Given the description of an element on the screen output the (x, y) to click on. 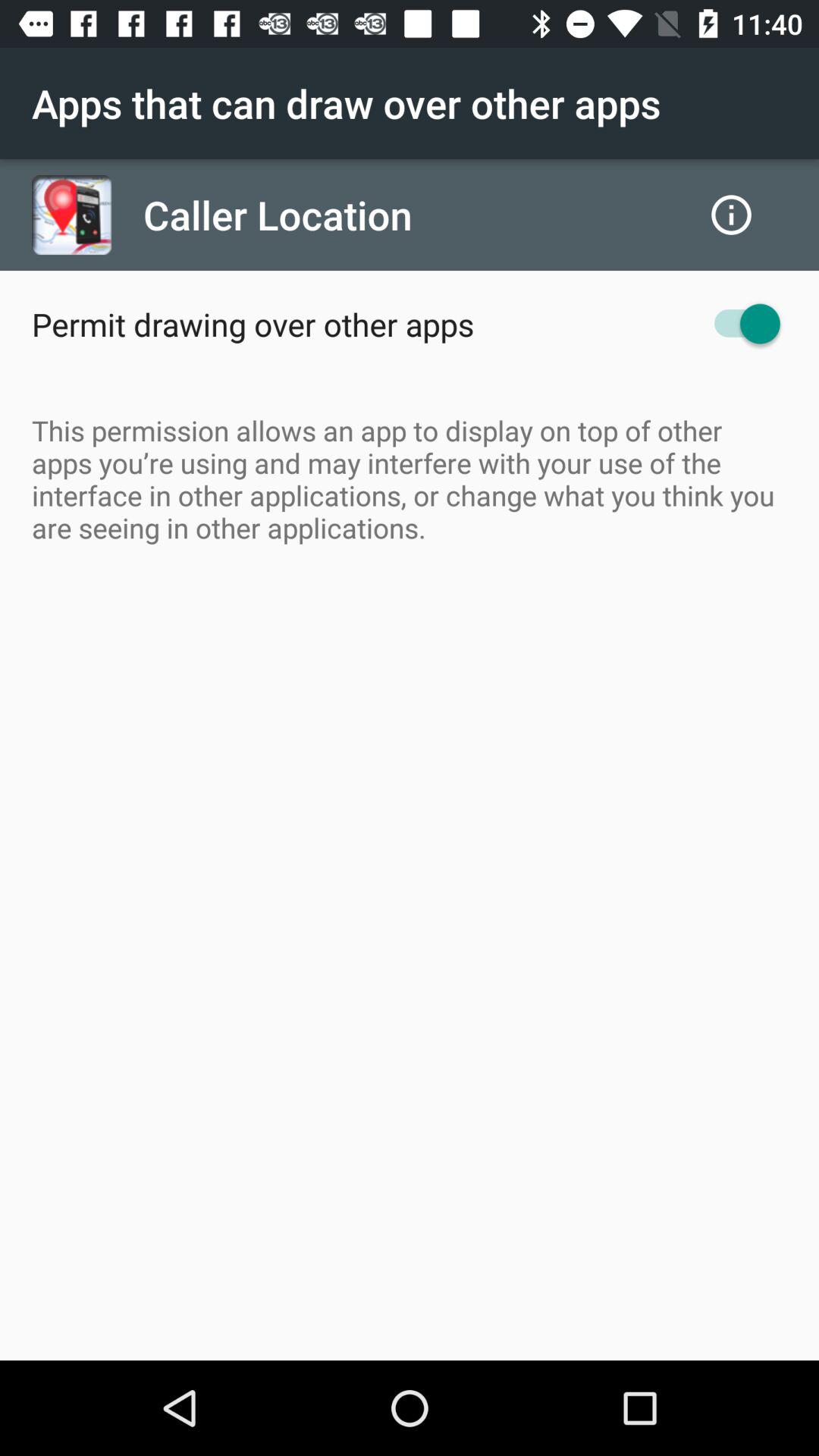
choose the this permission allows icon (409, 478)
